Given the description of an element on the screen output the (x, y) to click on. 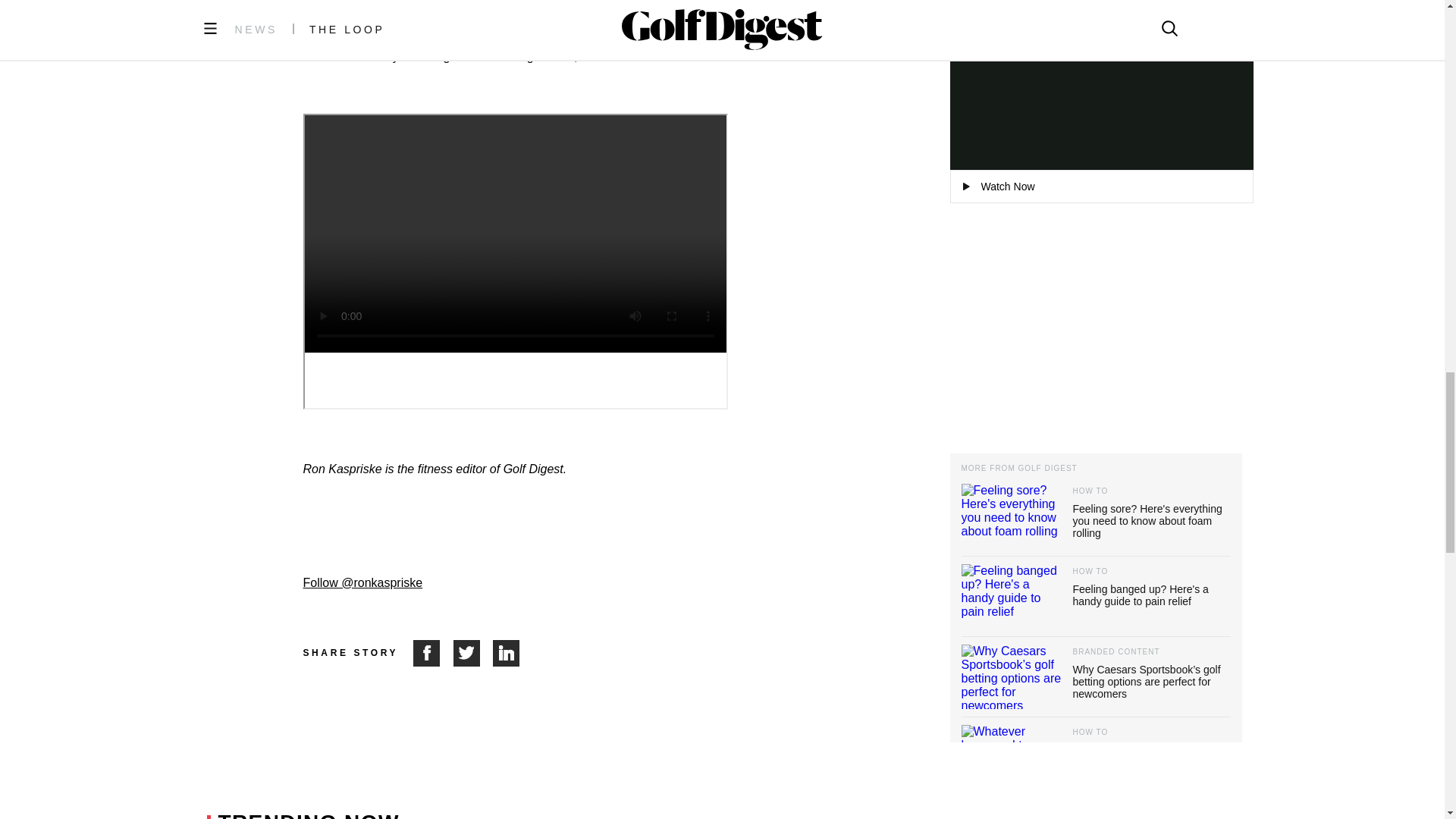
Share on LinkedIn (506, 652)
Share on Facebook (432, 652)
Share on Twitter (472, 652)
